Given the description of an element on the screen output the (x, y) to click on. 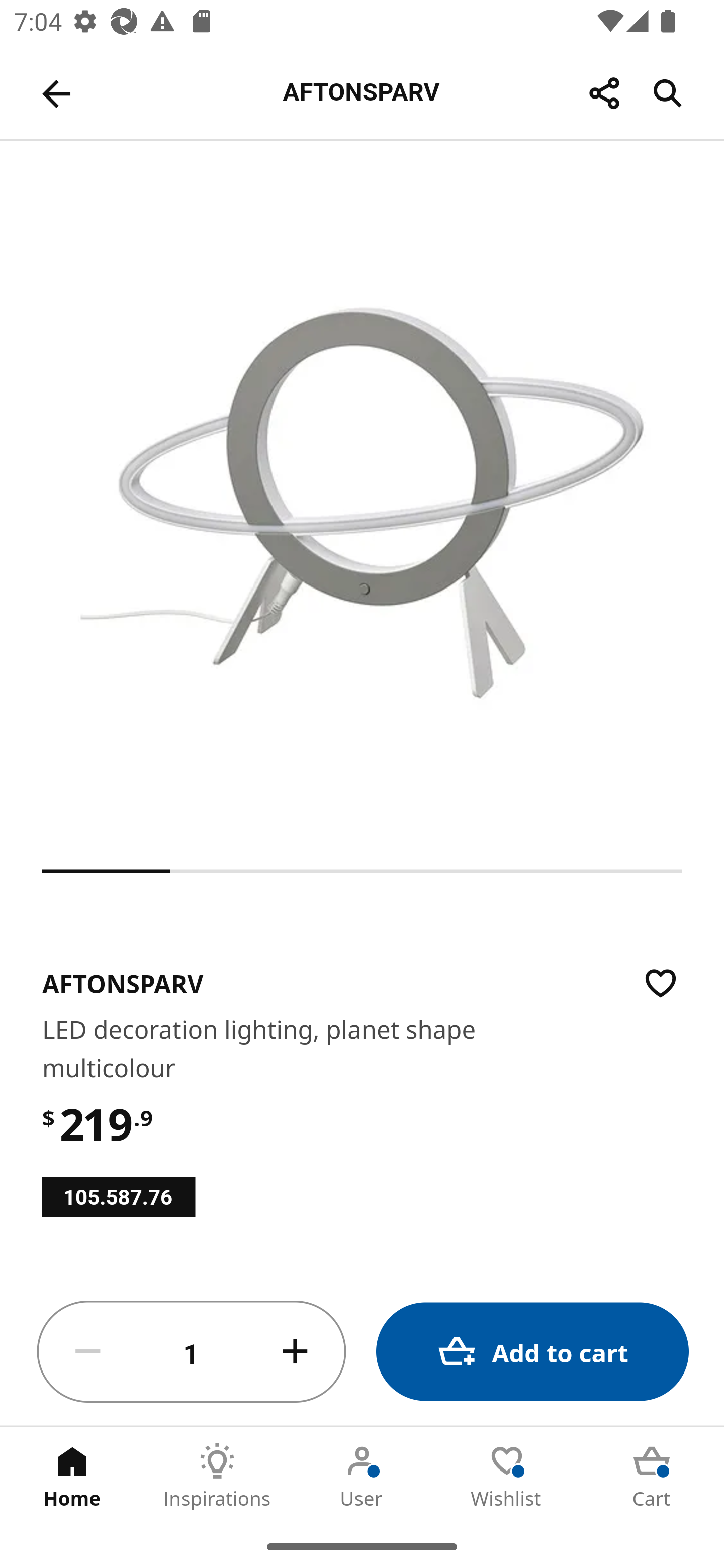
Add to cart (531, 1352)
1 (191, 1352)
Home
Tab 1 of 5 (72, 1476)
Inspirations
Tab 2 of 5 (216, 1476)
User
Tab 3 of 5 (361, 1476)
Wishlist
Tab 4 of 5 (506, 1476)
Cart
Tab 5 of 5 (651, 1476)
